Given the description of an element on the screen output the (x, y) to click on. 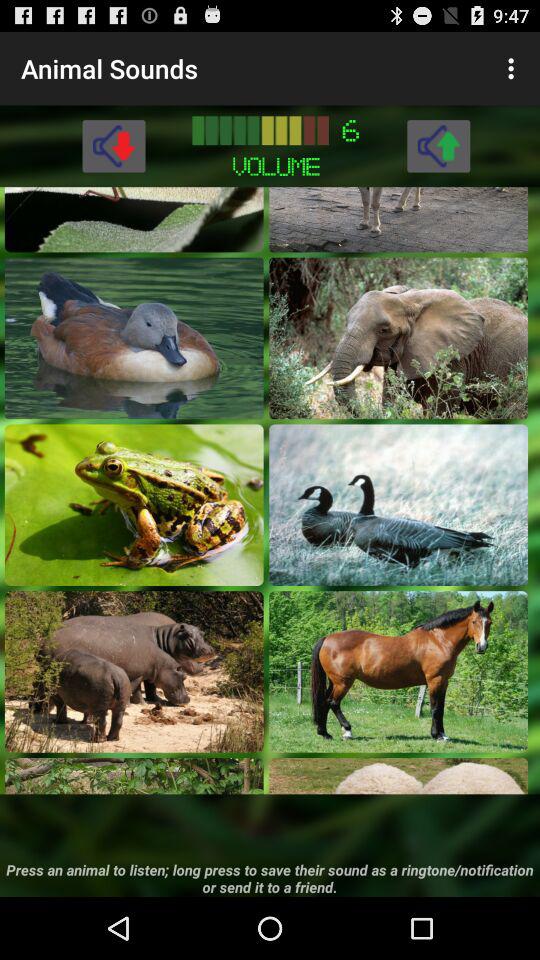
click to hear the sound of animal (398, 219)
